Given the description of an element on the screen output the (x, y) to click on. 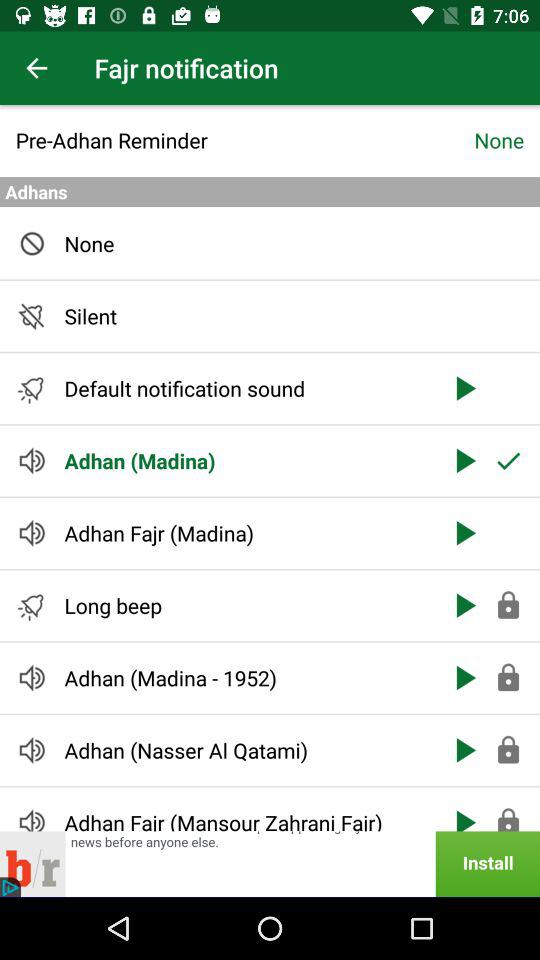
press the item to the left of the none icon (244, 139)
